Given the description of an element on the screen output the (x, y) to click on. 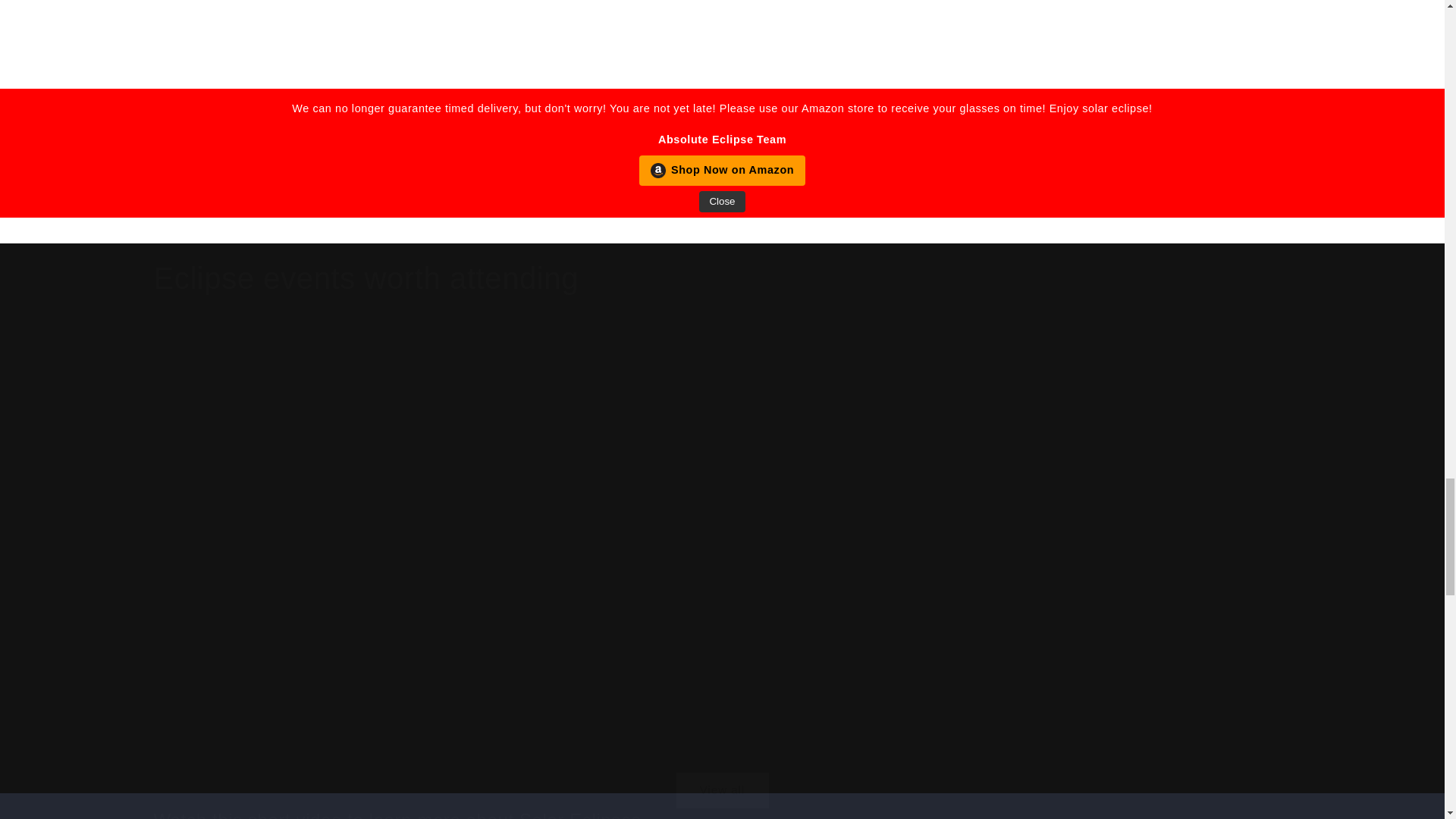
Eclipse events worth attending (365, 278)
View all (721, 771)
